Given the description of an element on the screen output the (x, y) to click on. 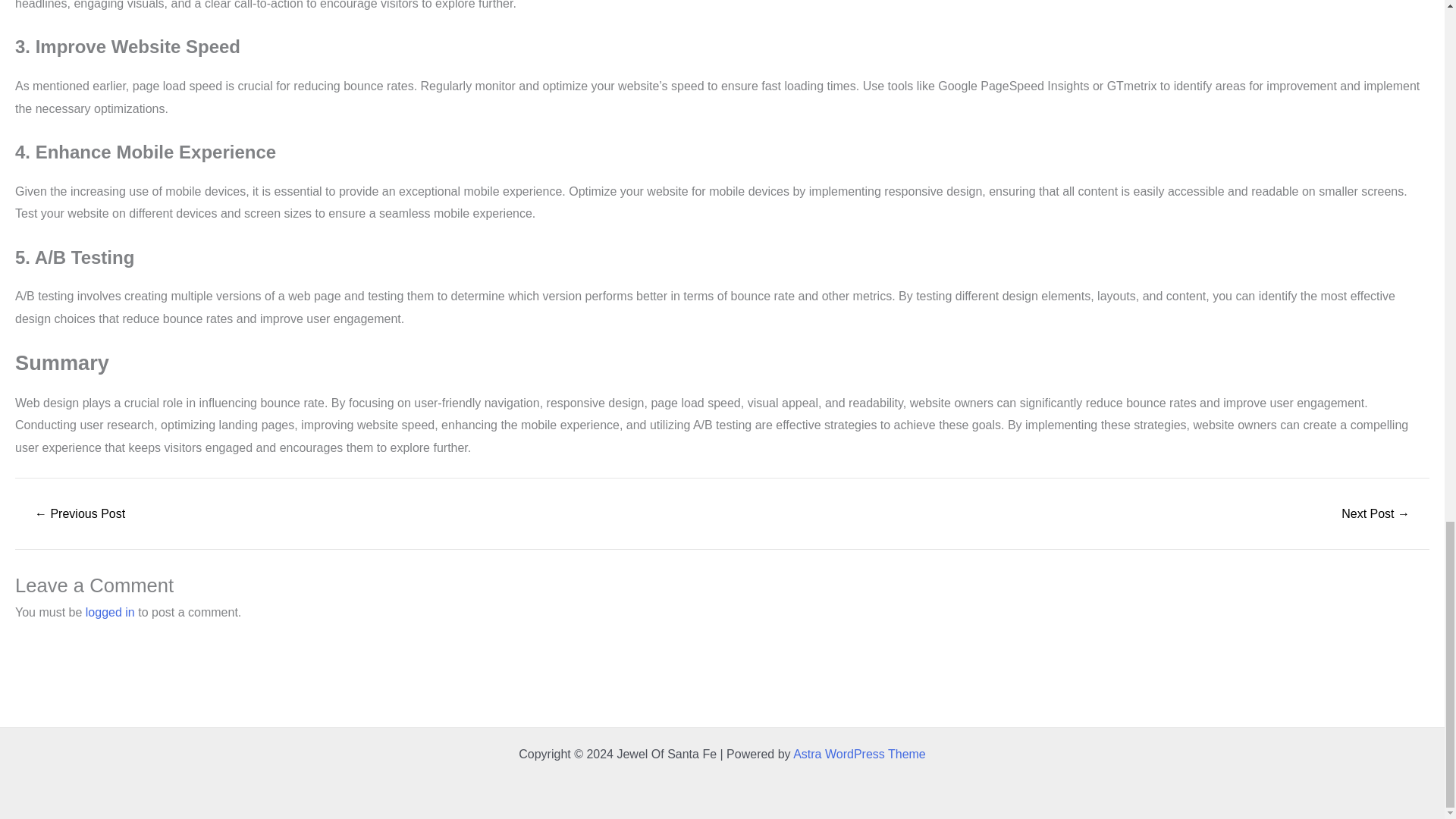
Mobile-First Indexing (79, 513)
Astra WordPress Theme (859, 753)
Micro-interactions in Web Design (1375, 513)
logged in (110, 612)
